Given the description of an element on the screen output the (x, y) to click on. 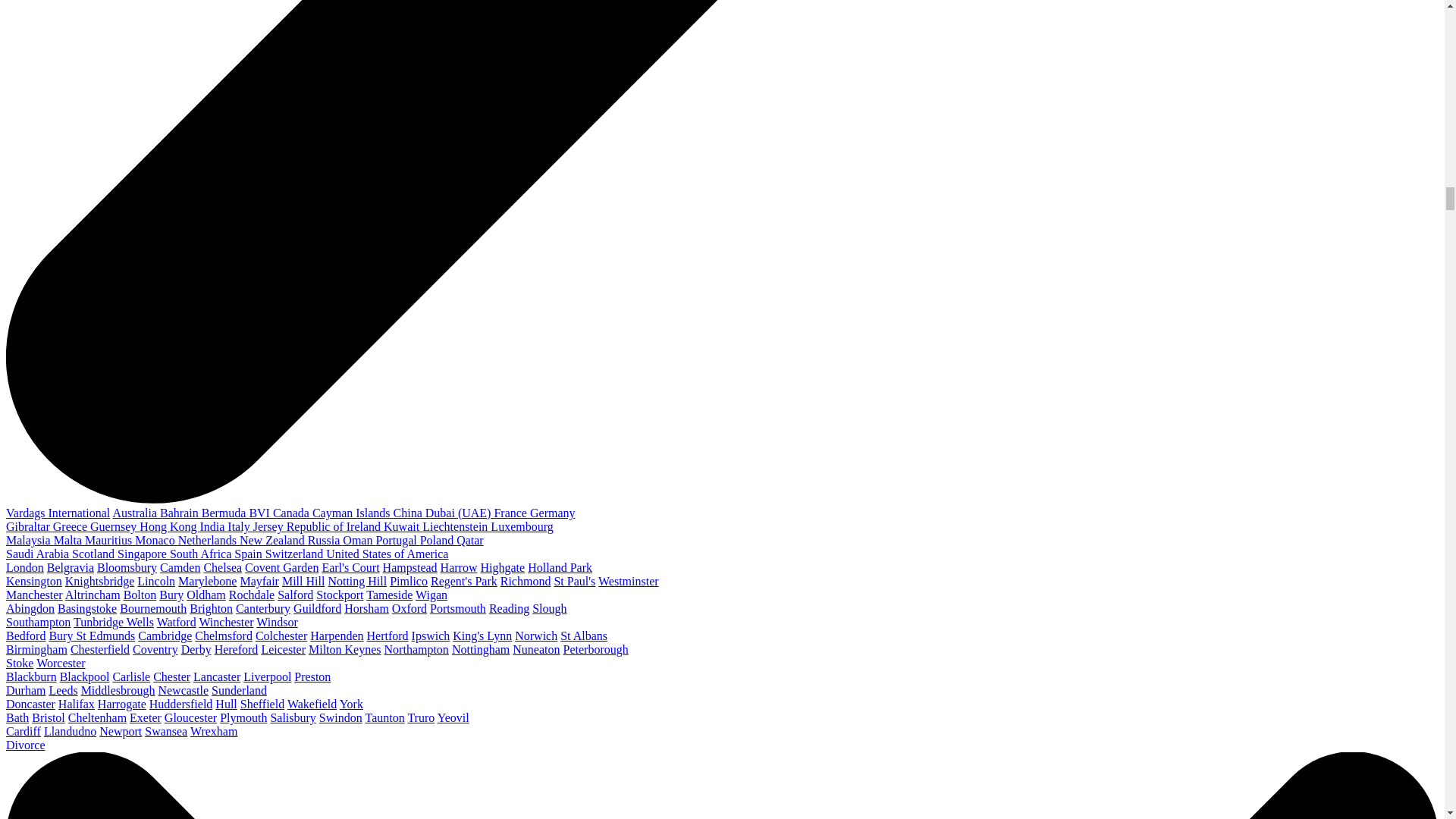
Bahrain (181, 512)
Australia (136, 512)
China (409, 512)
Canada (293, 512)
BVI (260, 512)
Cayman Islands (353, 512)
Bermuda (225, 512)
Vardags International (57, 512)
